Given the description of an element on the screen output the (x, y) to click on. 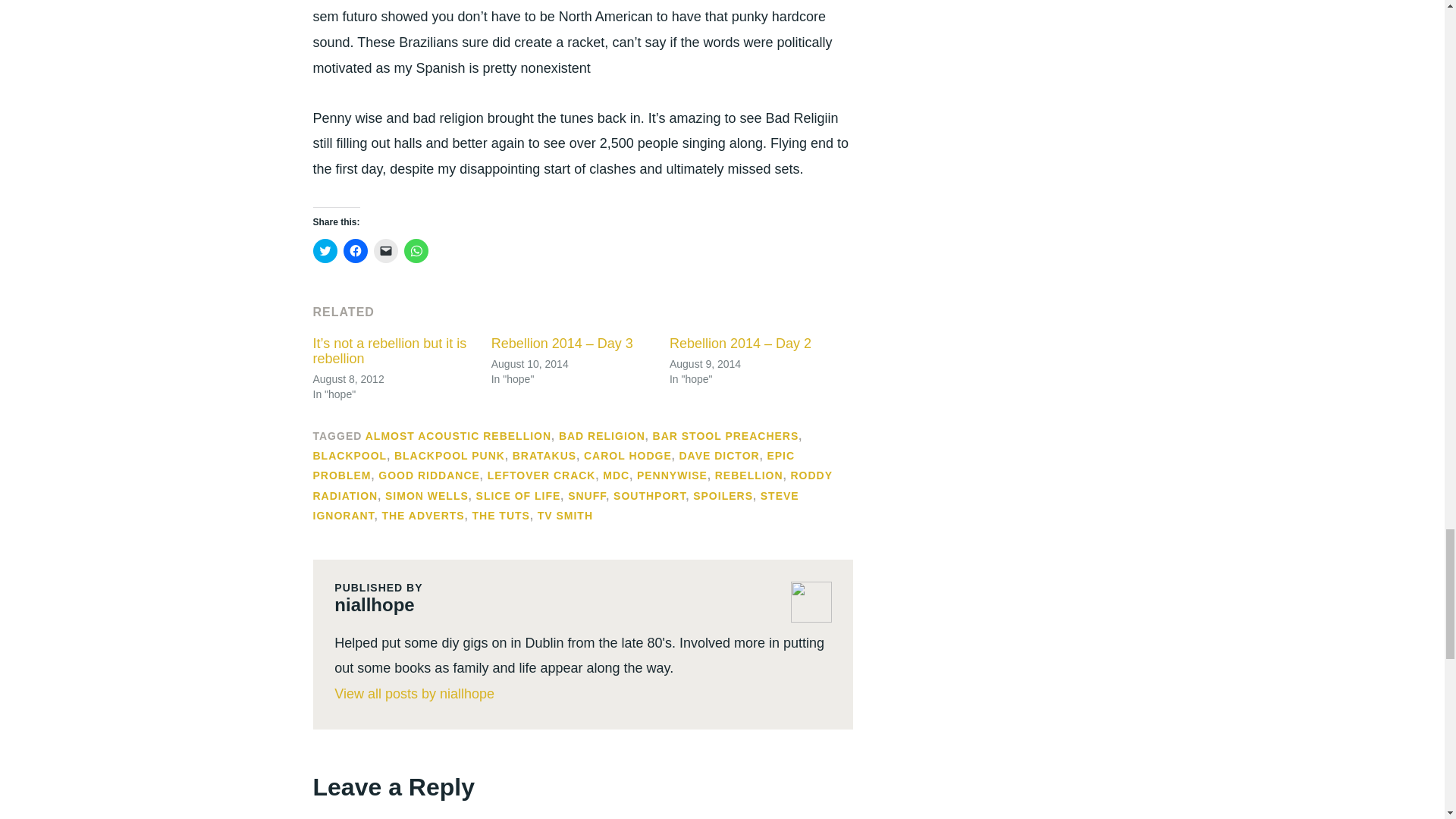
Click to share on Twitter (324, 250)
Click to share on WhatsApp (415, 250)
Click to email a link to a friend (384, 250)
Click to share on Facebook (354, 250)
